Given the description of an element on the screen output the (x, y) to click on. 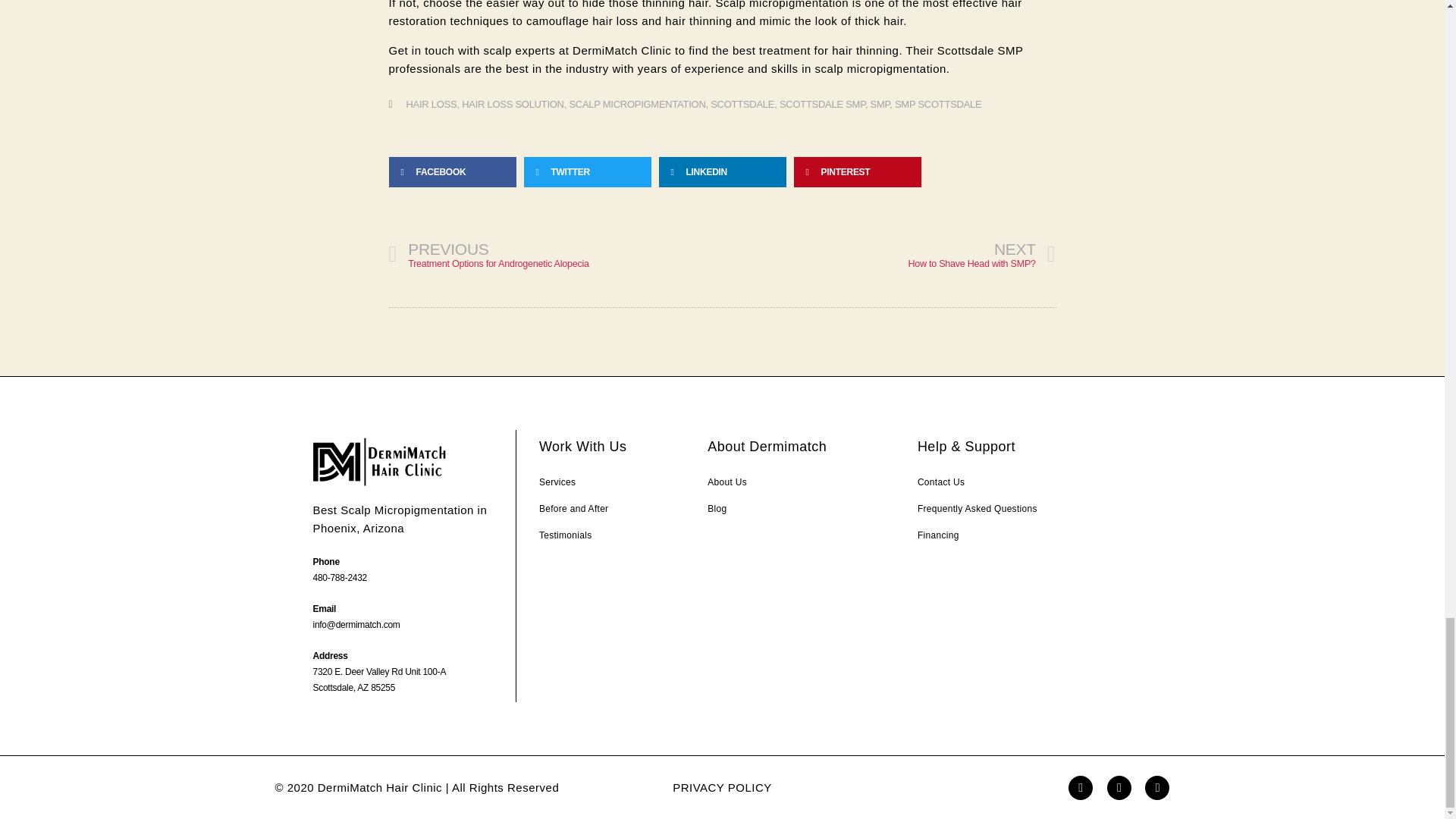
SCALP MICROPIGMENTATION (888, 254)
SMP (636, 103)
HAIR LOSS SOLUTION (879, 103)
HAIR LOSS (512, 103)
SCOTTSDALE (431, 103)
SMP SCOTTSDALE (742, 103)
SCOTTSDALE SMP (555, 254)
